Given the description of an element on the screen output the (x, y) to click on. 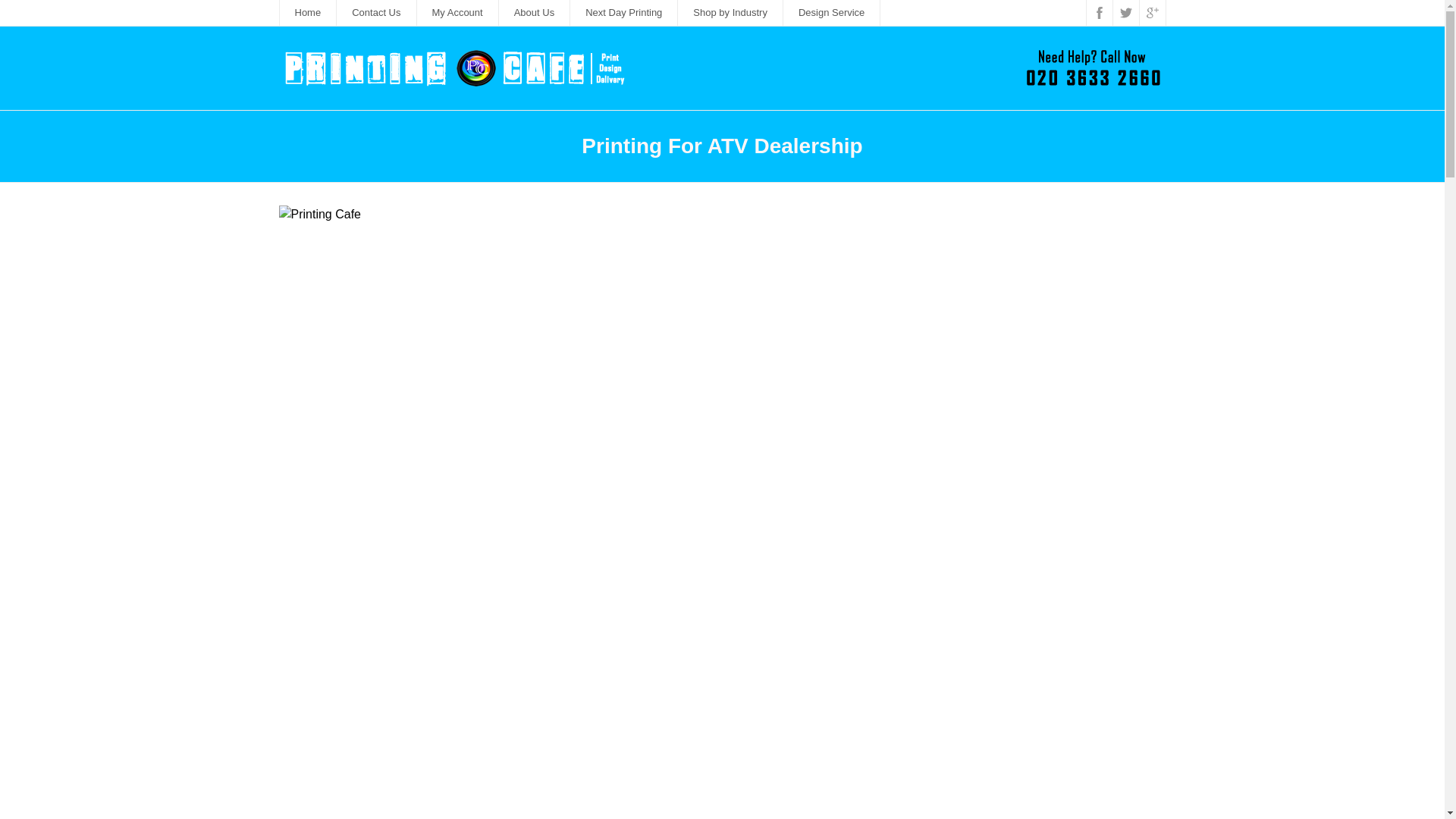
Shop by Industry (730, 12)
Calendars pc (1063, 598)
Presentation Folders pc (836, 598)
Home (307, 12)
About Us (534, 12)
Folded Leaflet (608, 371)
Booklets Printing pc (608, 771)
Contact Us (376, 12)
letterheads Printing pc (381, 771)
Next Day Printing (624, 12)
My Account (457, 12)
Posters printing pc (608, 598)
Business cards (836, 771)
Envelope Printing pc (381, 598)
Large Format Printing pc (381, 371)
